Given the description of an element on the screen output the (x, y) to click on. 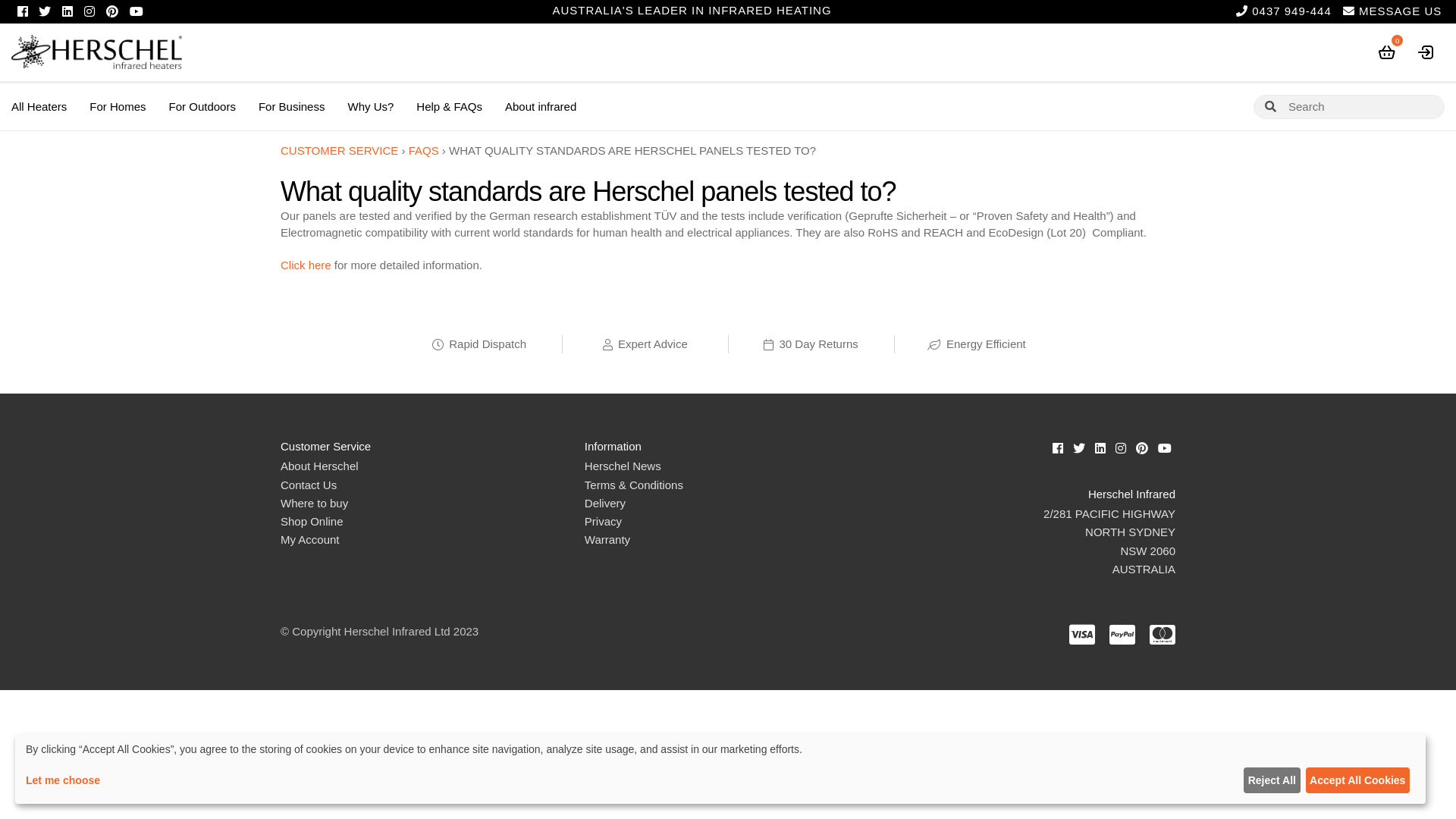
About infrared Element type: text (540, 107)
Search for: Element type: hover (1348, 106)
For Business Element type: text (291, 107)
Delivery Element type: text (604, 502)
Herschel News Element type: text (622, 465)
Accept All Cookies Element type: text (1357, 780)
Shop Online Element type: text (311, 520)
Let me choose Element type: text (631, 780)
My Account Element type: text (309, 539)
0437 949-444 Element type: text (1283, 11)
FAQS Element type: text (423, 150)
Privacy Element type: text (602, 520)
Help & FAQs Element type: text (448, 107)
Where to buy Element type: text (314, 502)
Terms & Conditions Element type: text (633, 484)
Login / Register Element type: hover (1425, 51)
0 Element type: text (1386, 51)
All Heaters Element type: text (39, 107)
Warranty Element type: text (607, 539)
Contact Us Element type: text (308, 484)
For Outdoors Element type: text (202, 107)
CUSTOMER SERVICE Element type: text (339, 150)
Click here Element type: text (305, 264)
For Homes Element type: text (117, 107)
Reject All Element type: text (1271, 780)
MESSAGE US Element type: text (1392, 11)
Why Us? Element type: text (369, 107)
About Herschel Element type: text (319, 465)
